Given the description of an element on the screen output the (x, y) to click on. 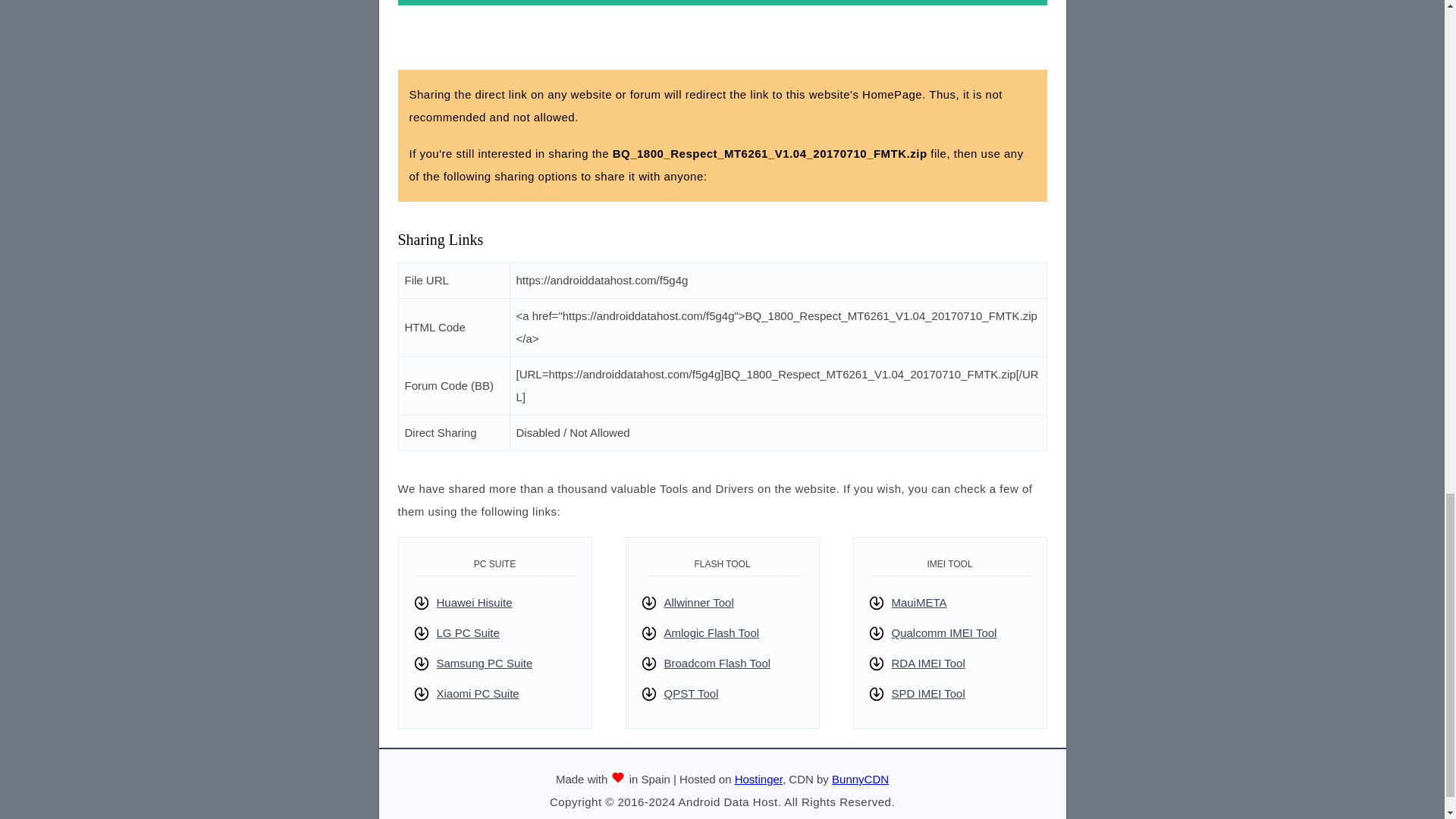
Broadcom Flash Tool (717, 662)
Xiaomi PC Suite (477, 693)
SPD IMEI Tool (928, 693)
MauiMETA (919, 602)
LG PC Suite (467, 632)
BunnyCDN (859, 779)
Qualcomm IMEI Tool (944, 632)
Hostinger (759, 779)
Huawei Hisuite (474, 602)
Allwinner Tool (698, 602)
